Given the description of an element on the screen output the (x, y) to click on. 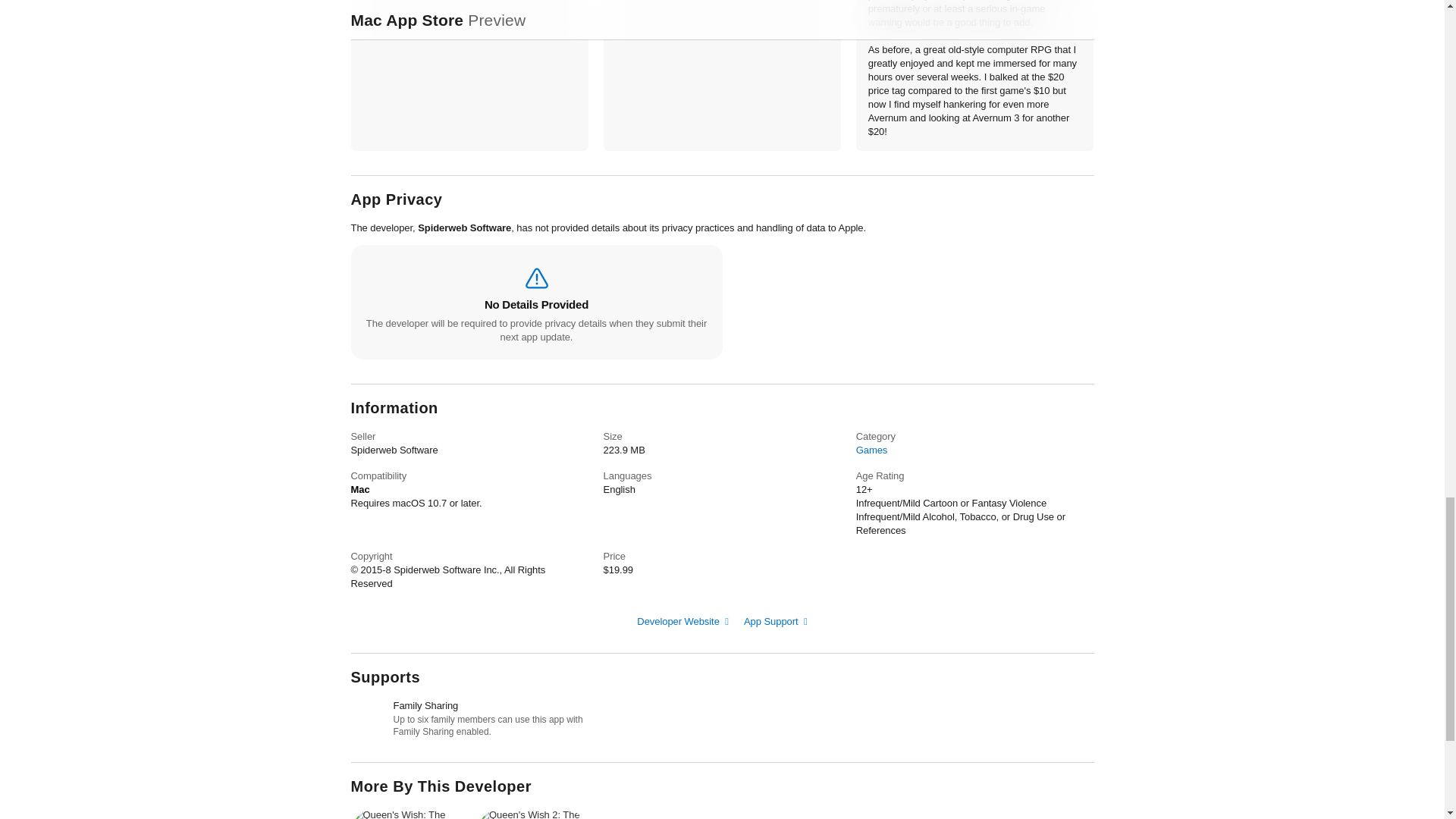
Developer Website (683, 621)
Games (872, 449)
App Support (776, 621)
